Given the description of an element on the screen output the (x, y) to click on. 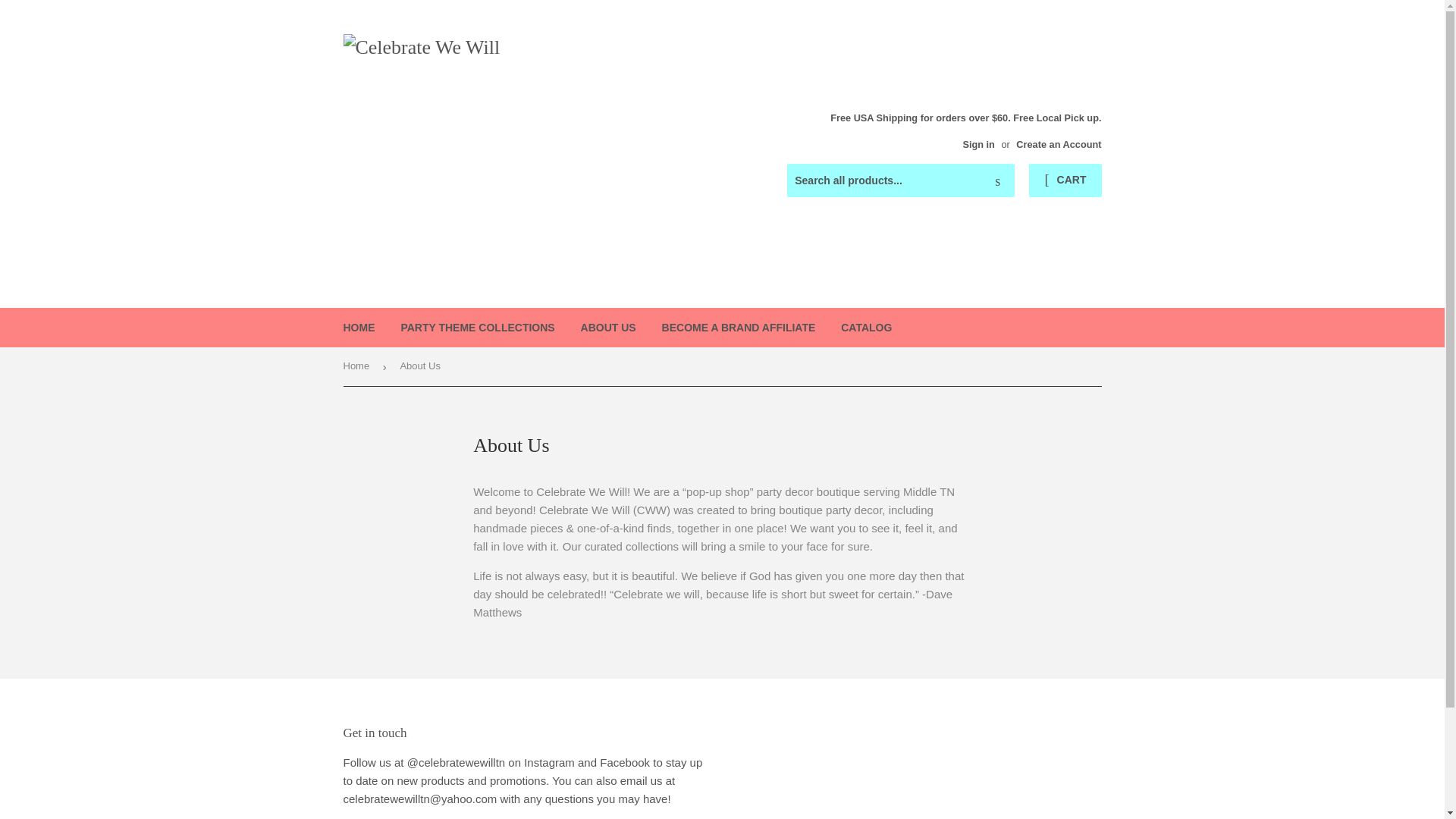
Create an Account (1058, 143)
PARTY THEME COLLECTIONS (477, 327)
ABOUT US (608, 327)
Sign in (978, 143)
HOME (359, 327)
Search (996, 181)
CART (1064, 180)
CATALOG (865, 327)
BECOME A BRAND AFFILIATE (738, 327)
